Given the description of an element on the screen output the (x, y) to click on. 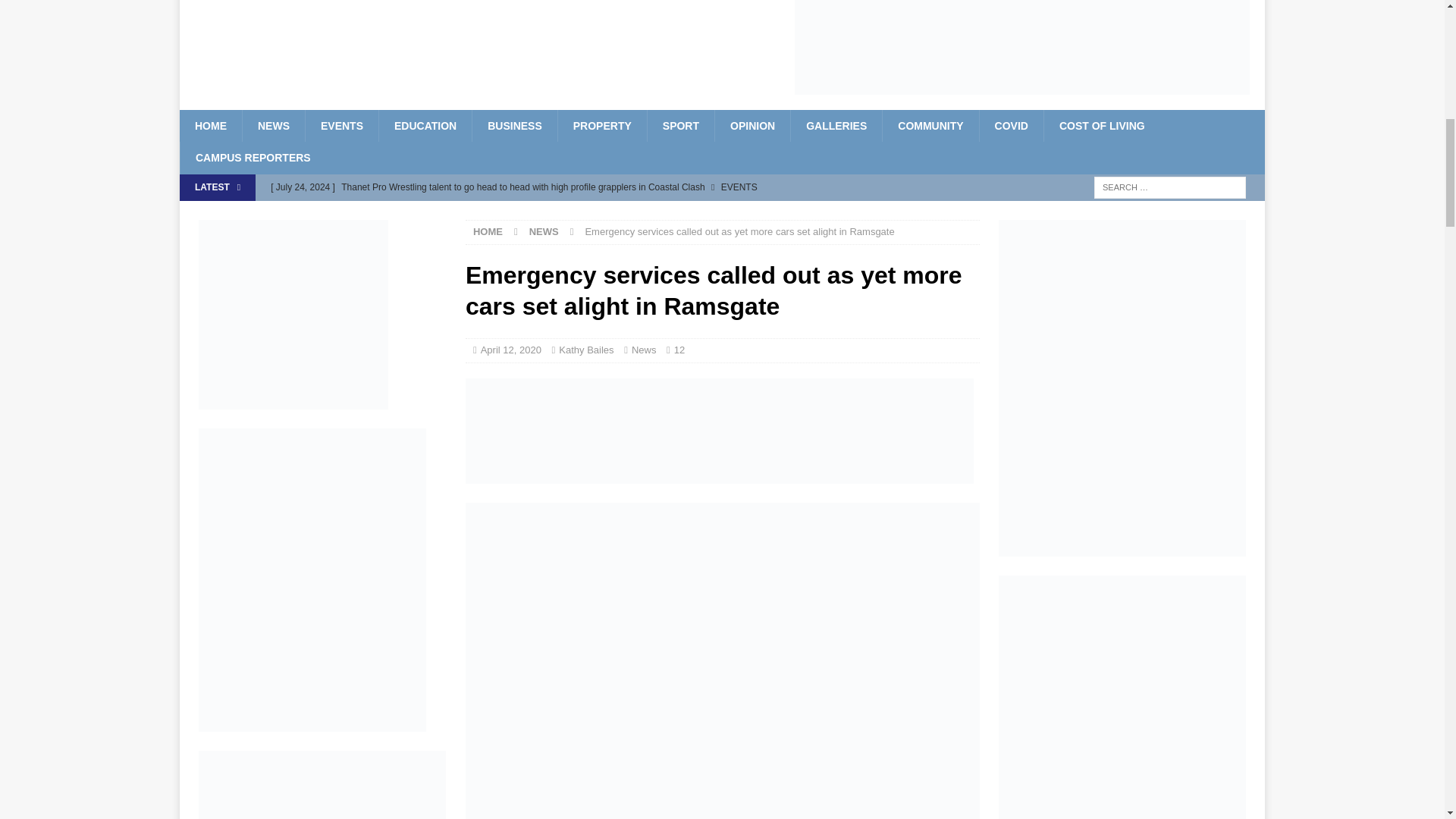
HOME (210, 125)
PROPERTY (601, 125)
GALLERIES (836, 125)
COST OF LIVING (1101, 125)
COMMUNITY (930, 125)
OPINION (752, 125)
NEWS (272, 125)
BUSINESS (514, 125)
SPORT (680, 125)
COVID (1010, 125)
EDUCATION (424, 125)
12 (679, 349)
CAMPUS REPORTERS (252, 157)
